Given the description of an element on the screen output the (x, y) to click on. 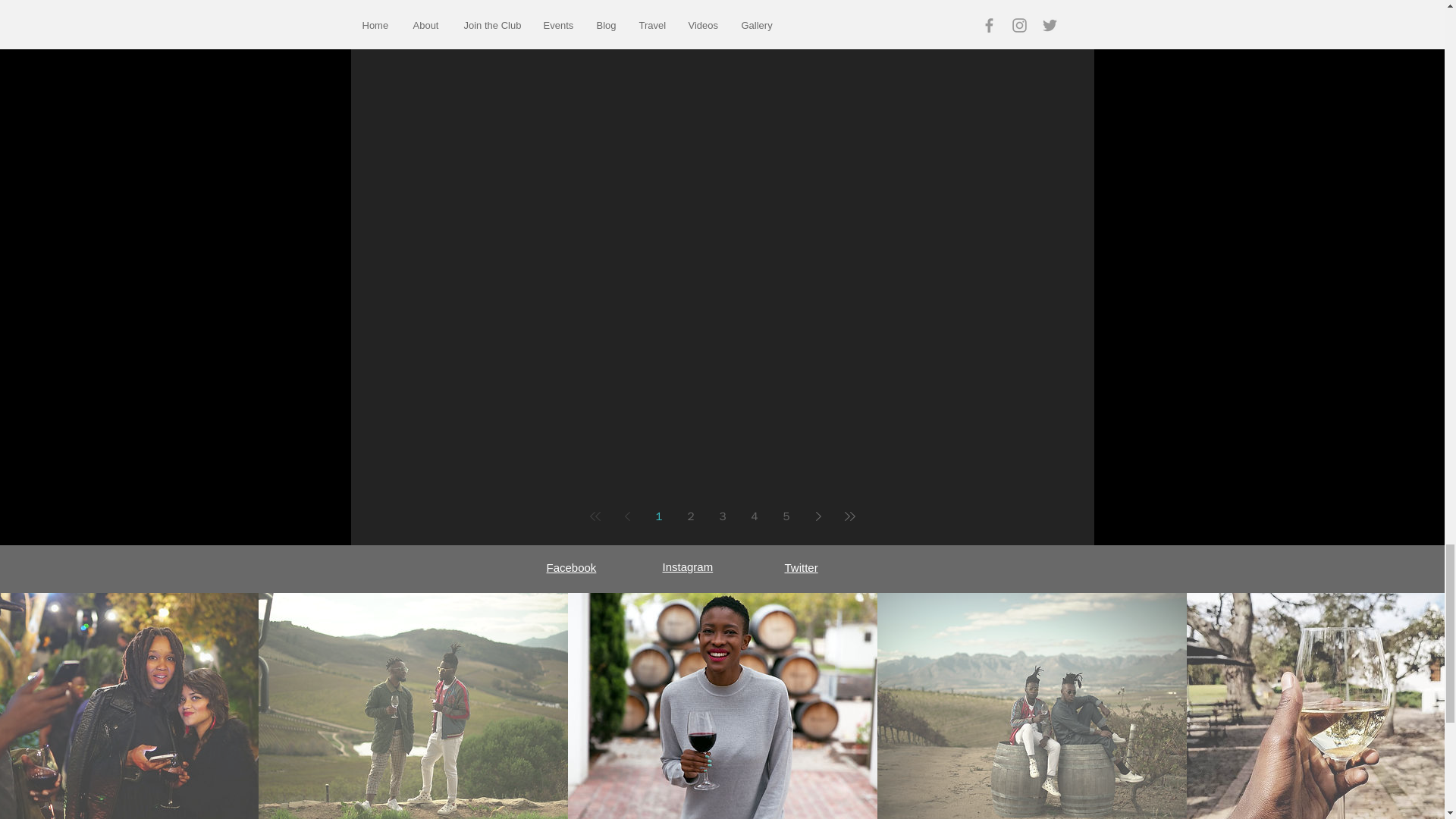
2 (690, 515)
Facebook (570, 567)
Instagram (687, 566)
5 (786, 515)
3 (722, 515)
Twitter (800, 567)
4 (754, 515)
